Given the description of an element on the screen output the (x, y) to click on. 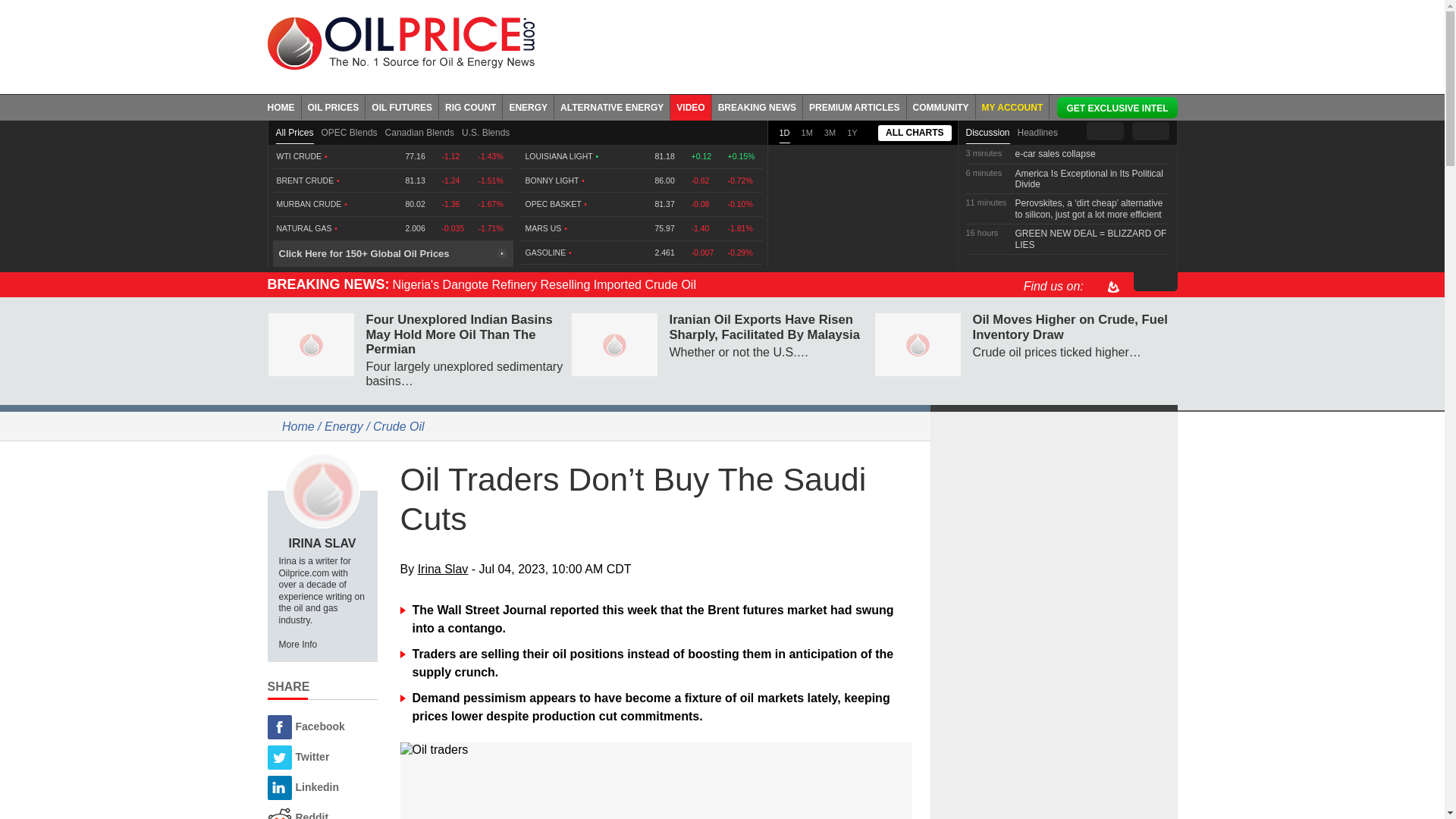
ALTERNATIVE ENERGY (611, 106)
COMMUNITY (941, 106)
RIG COUNT (470, 106)
BREAKING NEWS (757, 106)
Oil prices - Oilprice.com (400, 42)
Irina Slav (321, 490)
MY ACCOUNT (1012, 106)
PREMIUM ARTICLES (855, 106)
HOME (283, 106)
Oil traders (656, 749)
OIL PRICES (333, 106)
OIL FUTURES (402, 106)
VIDEO (690, 106)
ENERGY (528, 106)
